Given the description of an element on the screen output the (x, y) to click on. 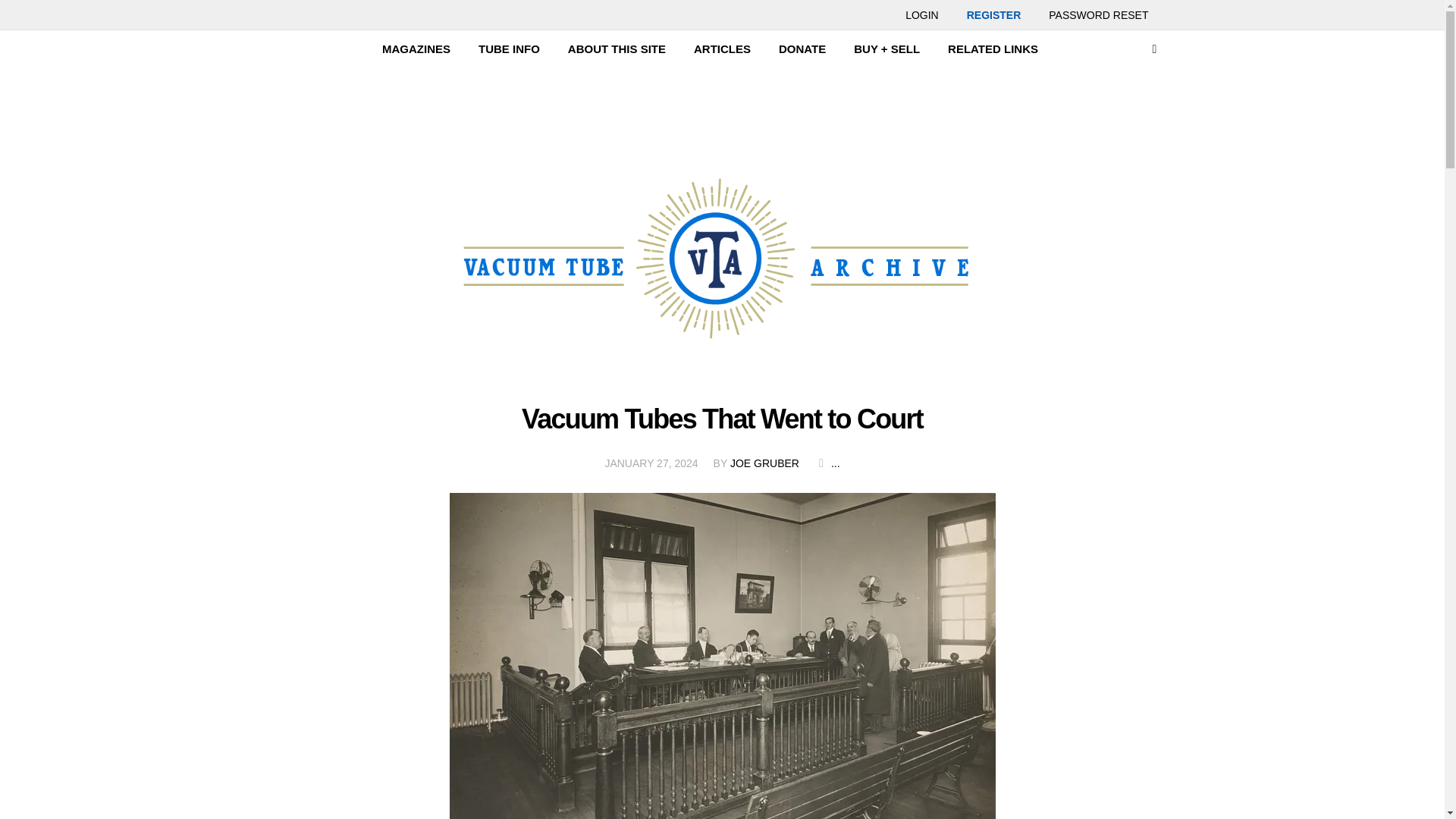
ARTICLES (721, 48)
PASSWORD RESET (1098, 14)
RELATED LINKS (992, 48)
ABOUT THIS SITE (616, 48)
LOGIN (921, 14)
DONATE (802, 48)
MAGAZINES (416, 48)
REGISTER (994, 14)
TUBE INFO (508, 48)
Tube info (508, 48)
